Given the description of an element on the screen output the (x, y) to click on. 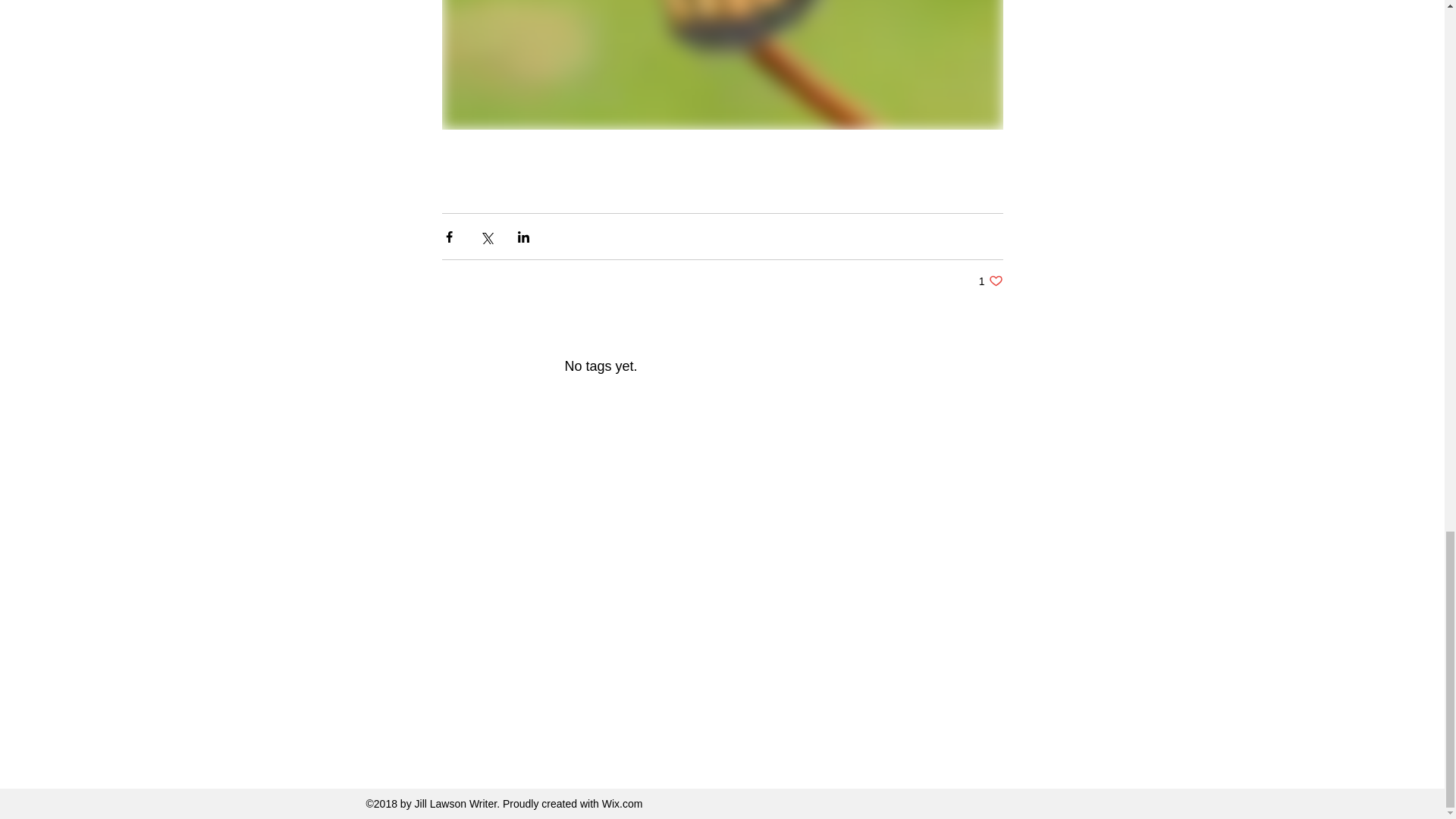
Don't Worry! You're Not A Junk Food Eating Lazy Slob (990, 280)
Go Sweet or Go Snarky? You Tell Me! (964, 180)
A Diet of Soup and Sarcasm: Part Two (479, 201)
